Given the description of an element on the screen output the (x, y) to click on. 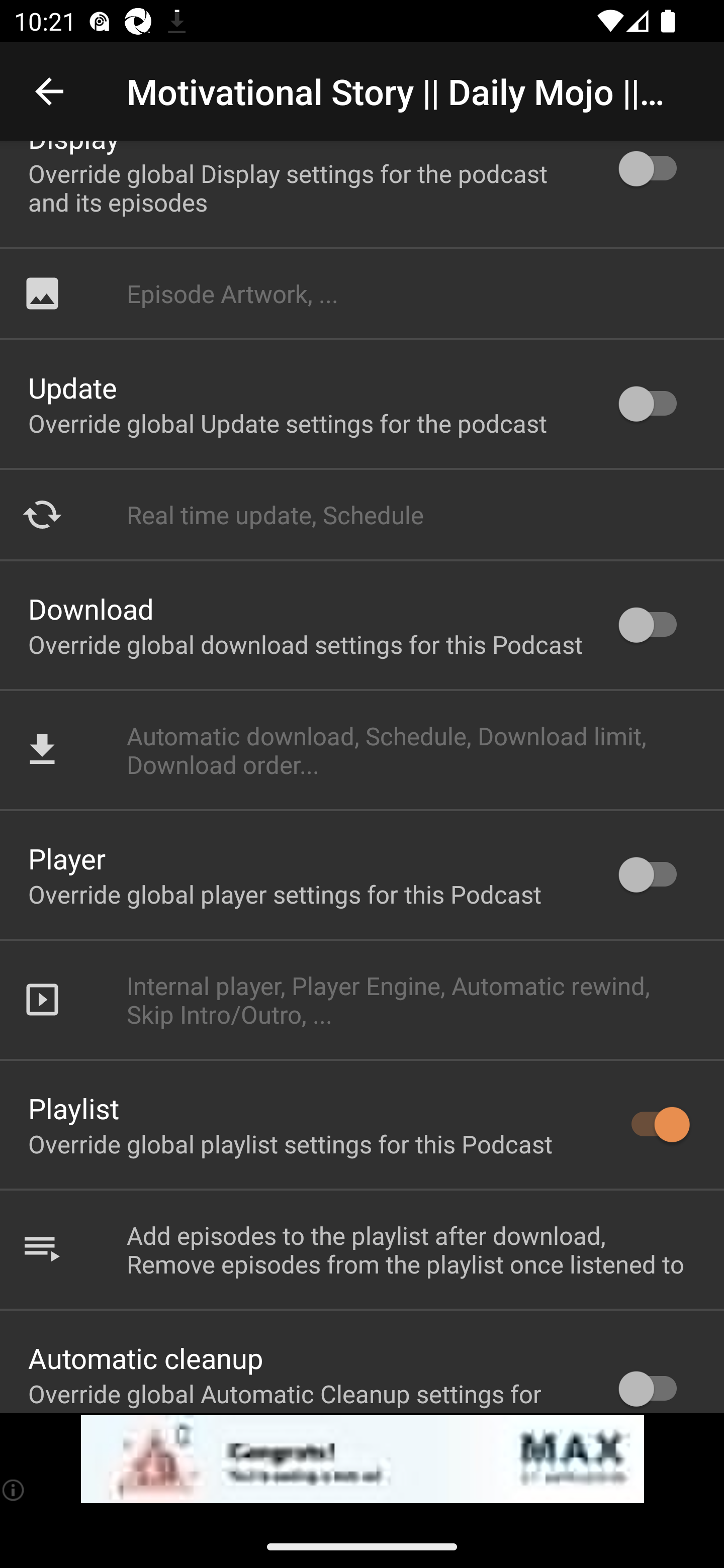
Navigate up (49, 91)
Episode Artwork, ... (362, 293)
Real time update, Schedule (362, 514)
app-monetization (362, 1459)
(i) (14, 1489)
